Given the description of an element on the screen output the (x, y) to click on. 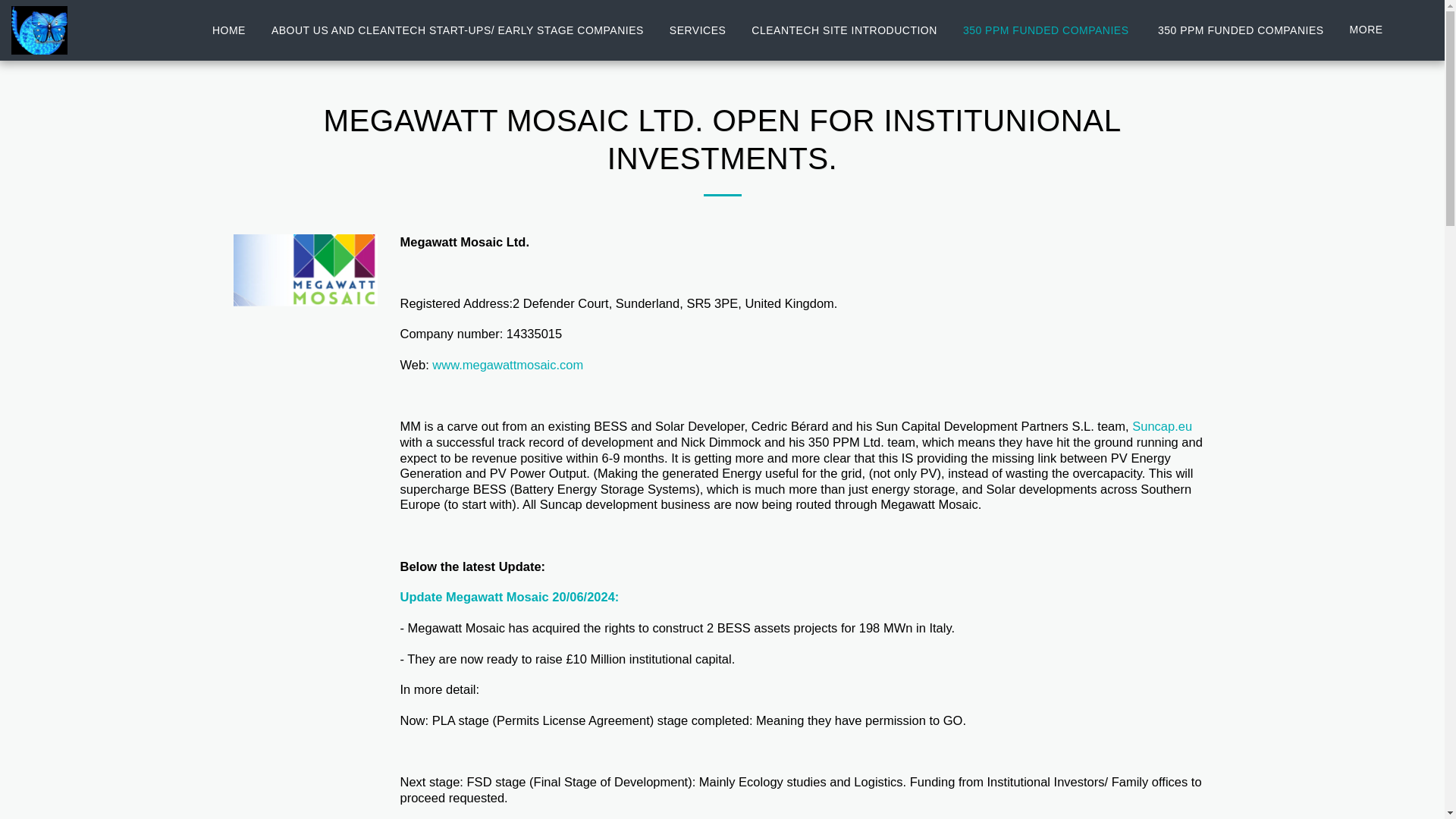
350 PPM FUNDED COMPANIES (1241, 29)
CLEANTECH SITE INTRODUCTION (844, 29)
HOME (228, 29)
www.megawattmosaic.com (507, 364)
MORE   (1372, 29)
SERVICES (698, 29)
Suncap.eu (1162, 426)
350 PPM FUNDED COMPANIES  (1047, 29)
